Given the description of an element on the screen output the (x, y) to click on. 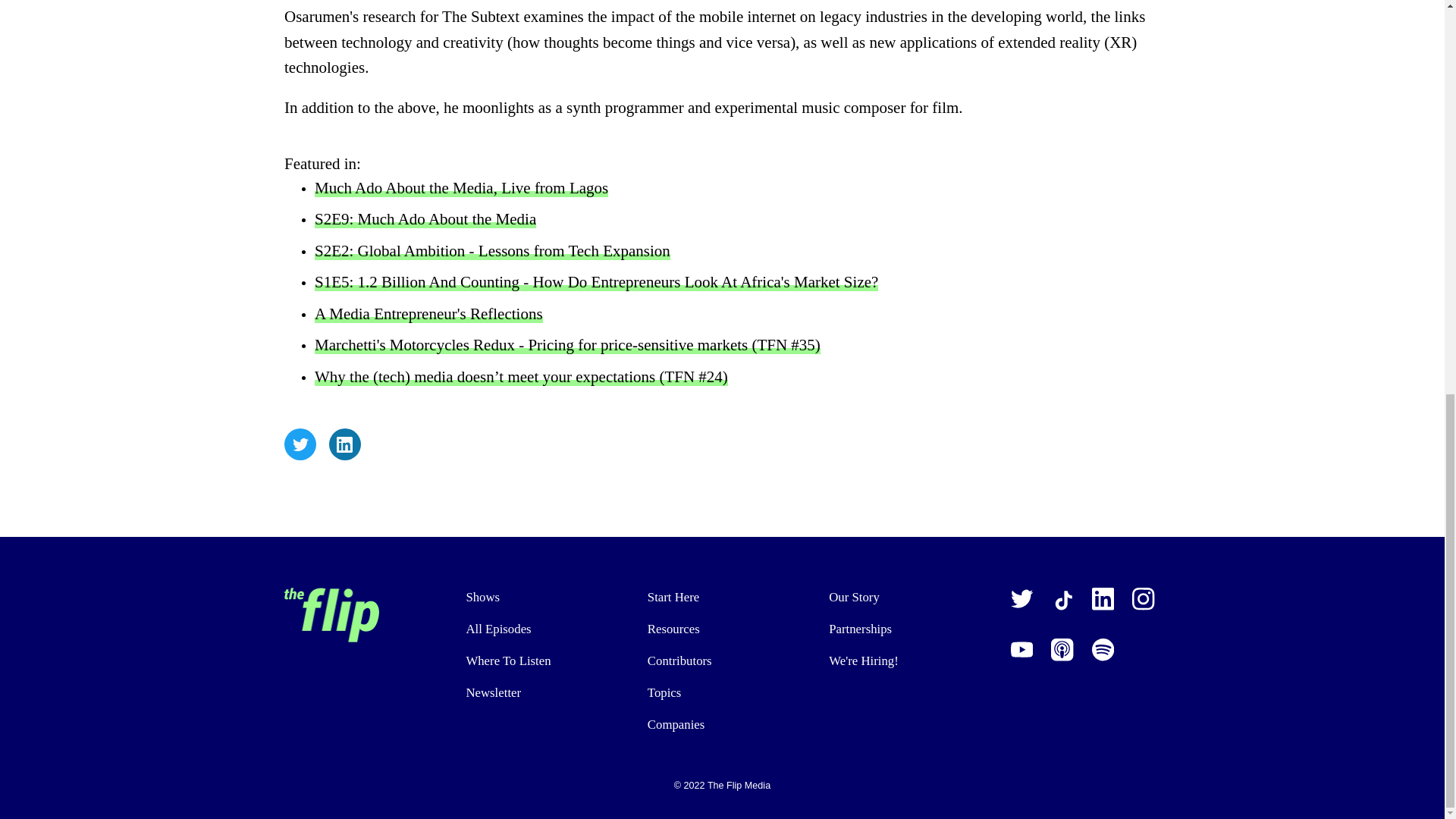
Resources (721, 628)
Much Ado About the Media, Live from Lagos (461, 188)
Apple Podcasts (1062, 649)
YouTube icon (1024, 649)
Spotify (1102, 649)
Partnerships (903, 628)
Instagram icon (1146, 600)
Companies (721, 723)
Twitter icon (1021, 599)
Contributors (721, 660)
LinkedIn icon (1102, 599)
LinkedIn icon (344, 444)
YouTube icon (1021, 649)
Where To Listen (539, 660)
We'Re Hiring! (903, 660)
